Given the description of an element on the screen output the (x, y) to click on. 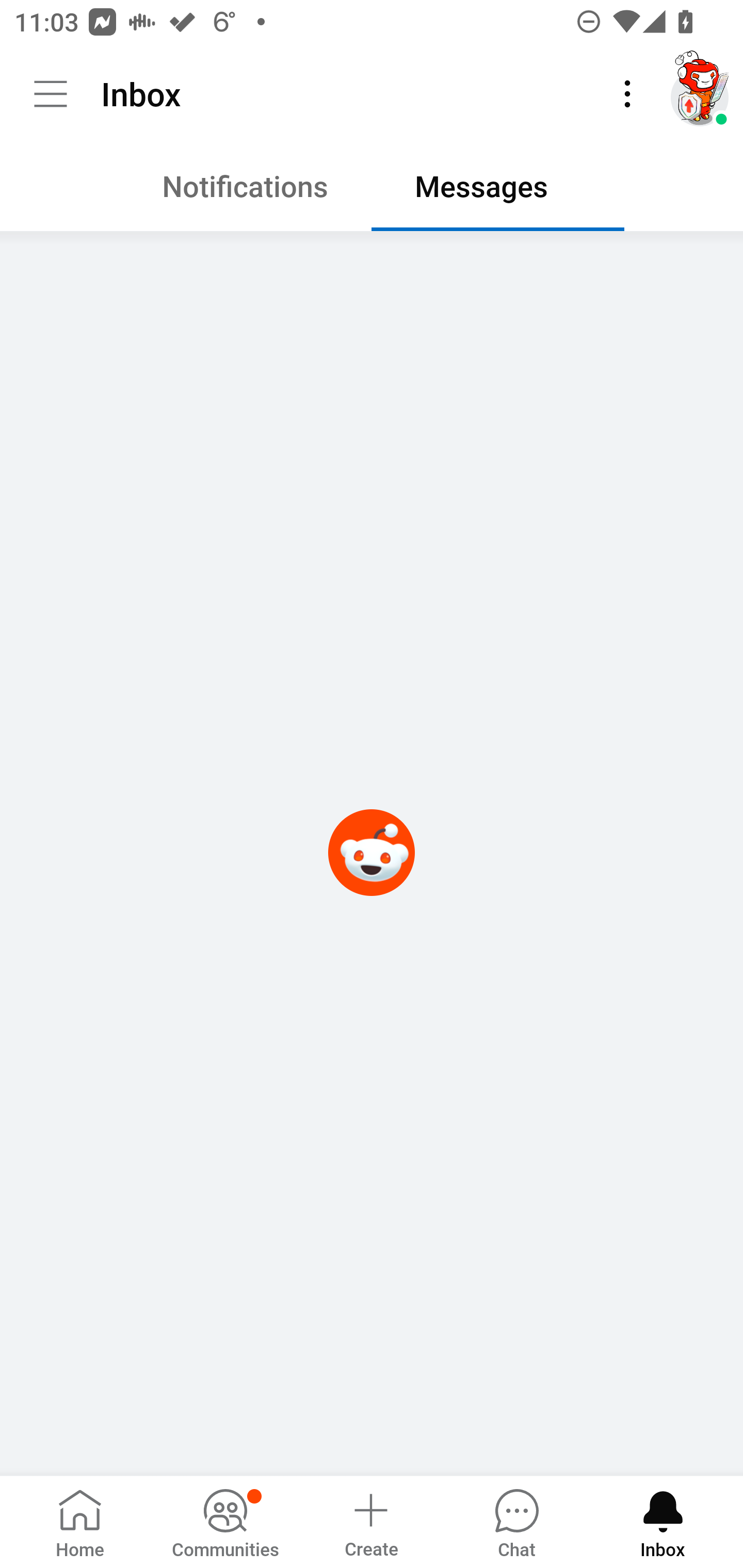
Community menu (50, 93)
More (626, 93)
TestAppium002 account (699, 93)
Notifications (244, 191)
Home (80, 1520)
Communities, has notifications Communities (225, 1520)
Create a post Create (370, 1520)
Chat (516, 1520)
Inbox (662, 1520)
